Given the description of an element on the screen output the (x, y) to click on. 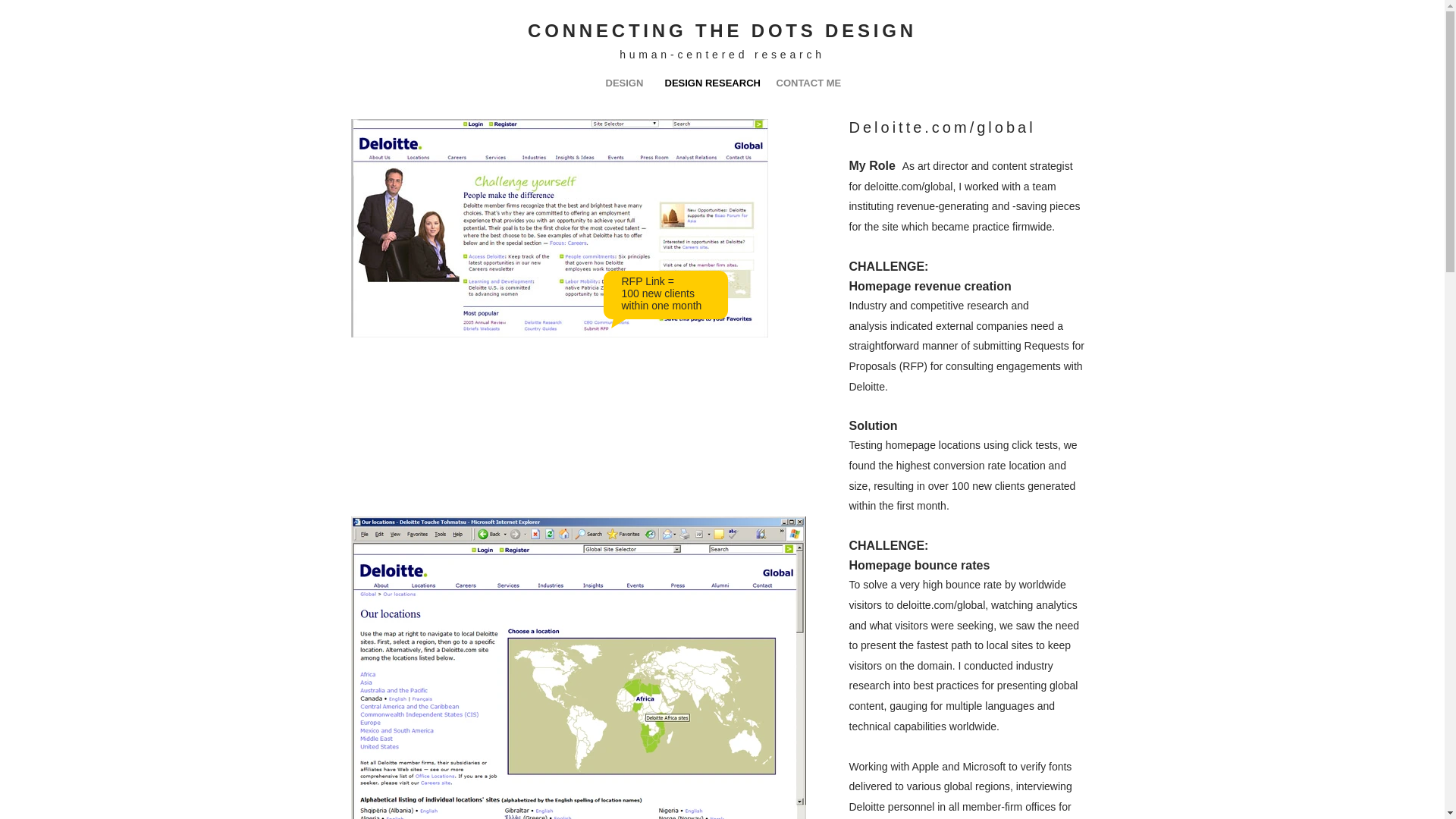
DESIGN (623, 83)
DESIGN RESEARCH (709, 83)
CONTACT ME (807, 83)
